Given the description of an element on the screen output the (x, y) to click on. 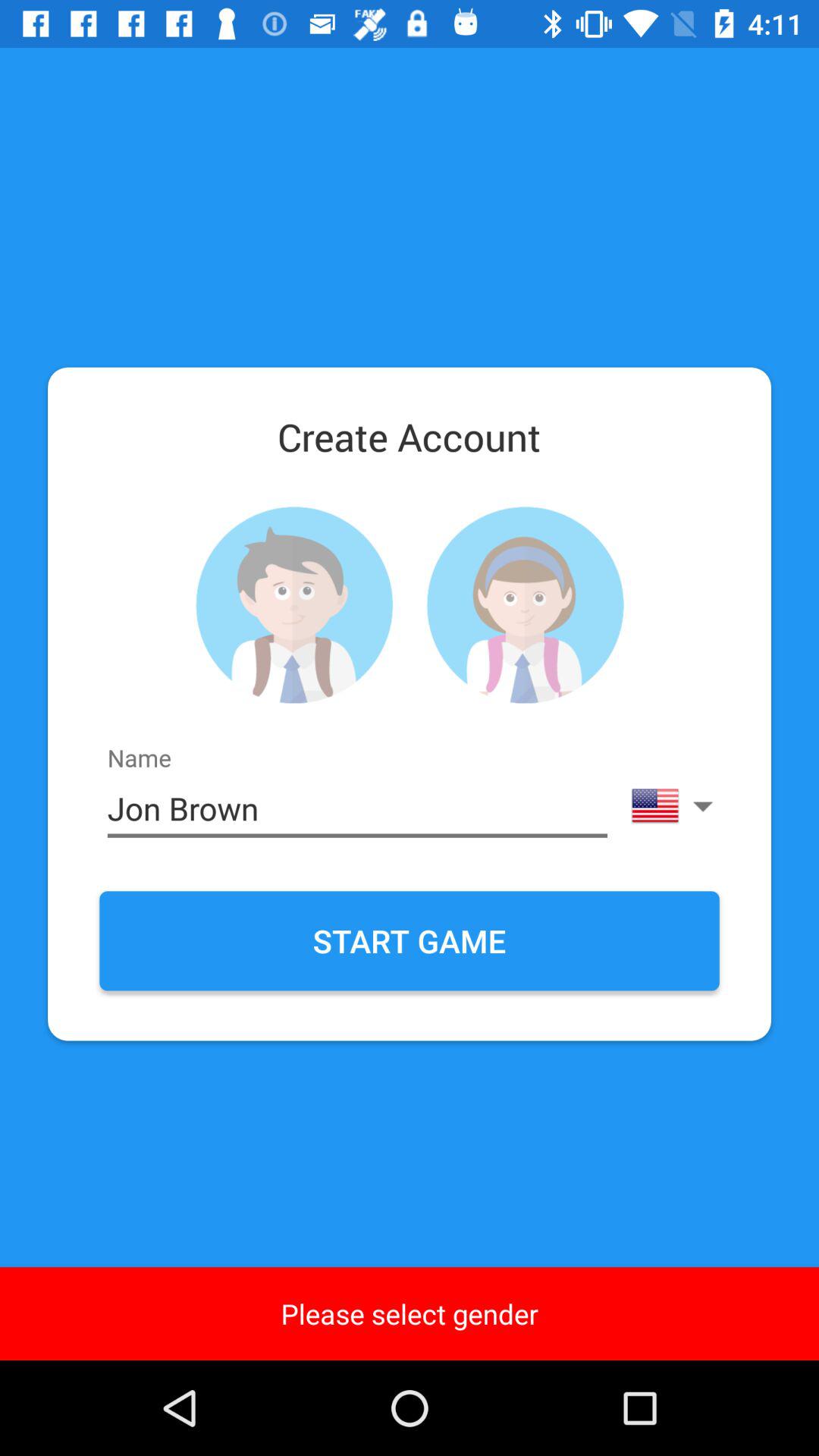
select male gender (293, 605)
